Given the description of an element on the screen output the (x, y) to click on. 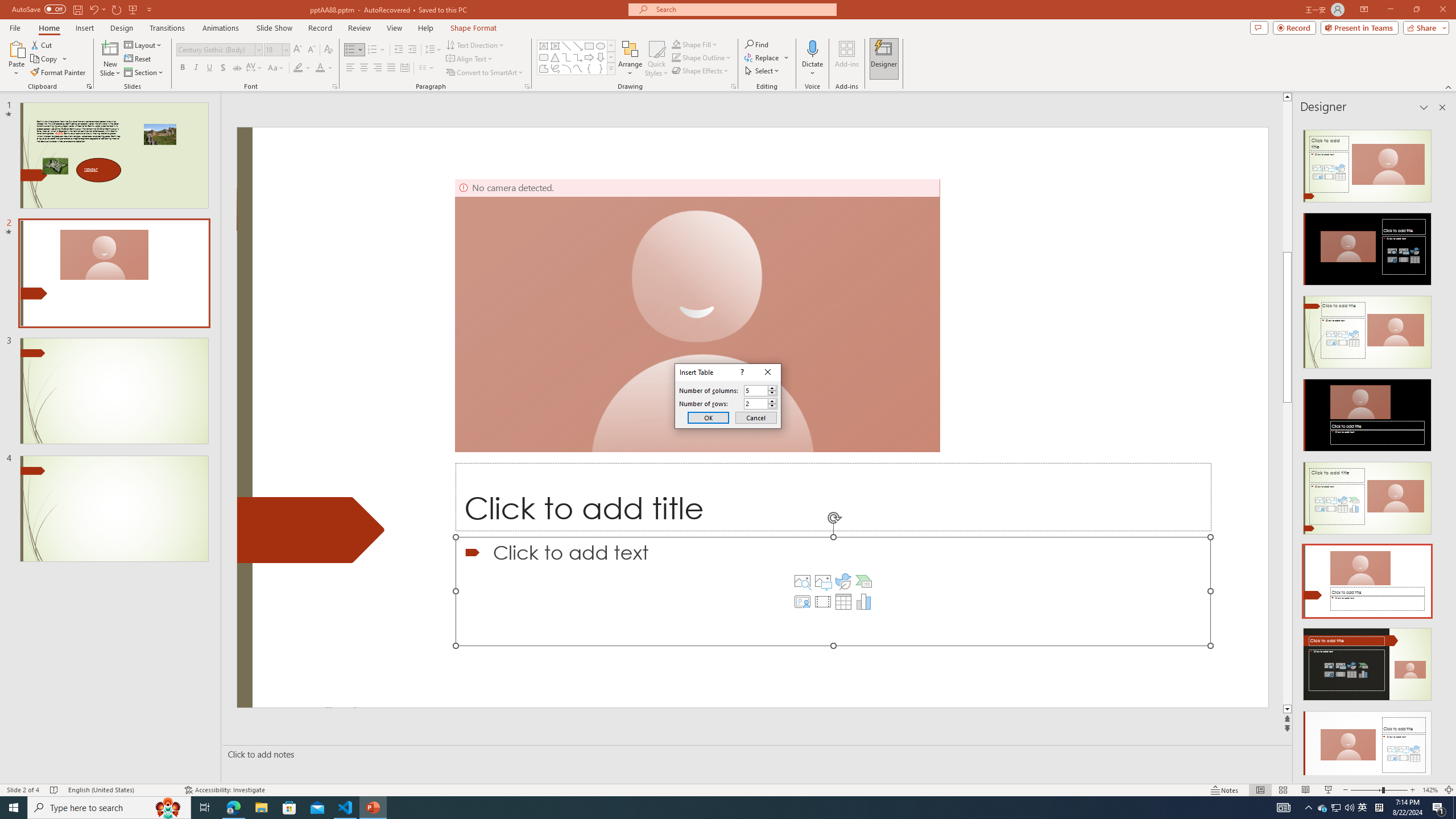
Decorative Locked (310, 530)
Zoom 142% (1430, 790)
